Given the description of an element on the screen output the (x, y) to click on. 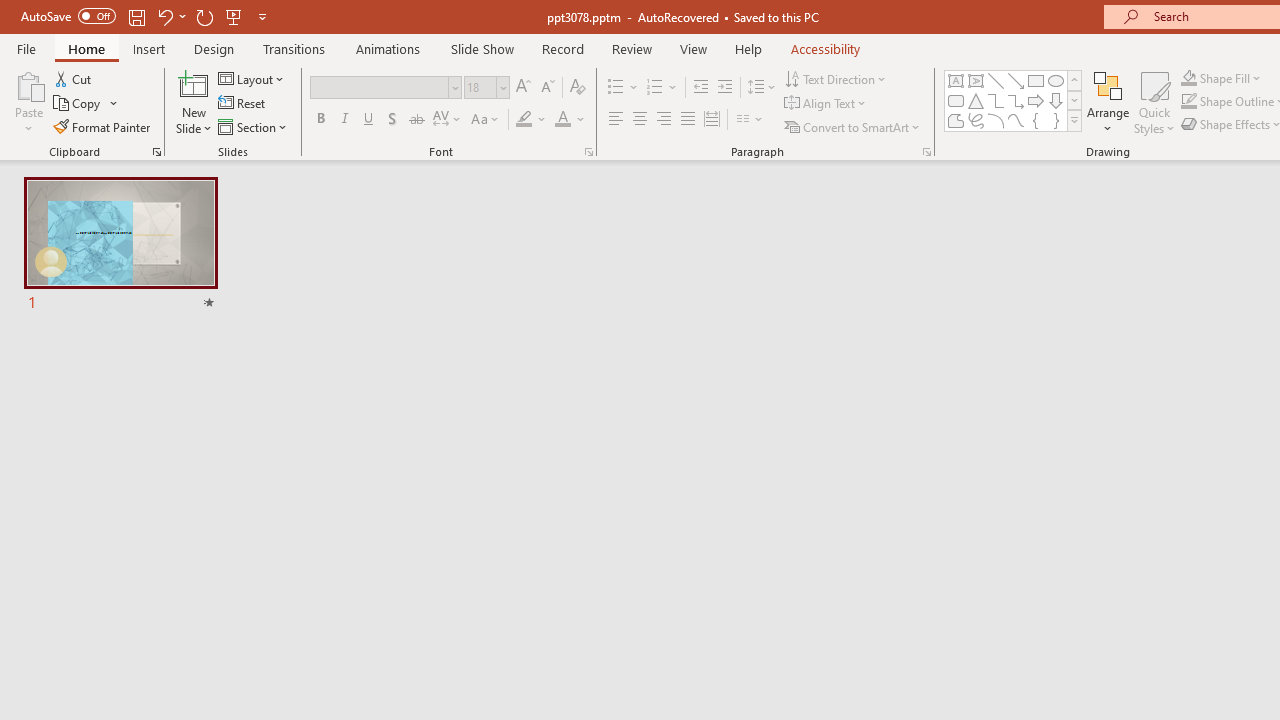
Shape Outline Green, Accent 1 (1188, 101)
